Given the description of an element on the screen output the (x, y) to click on. 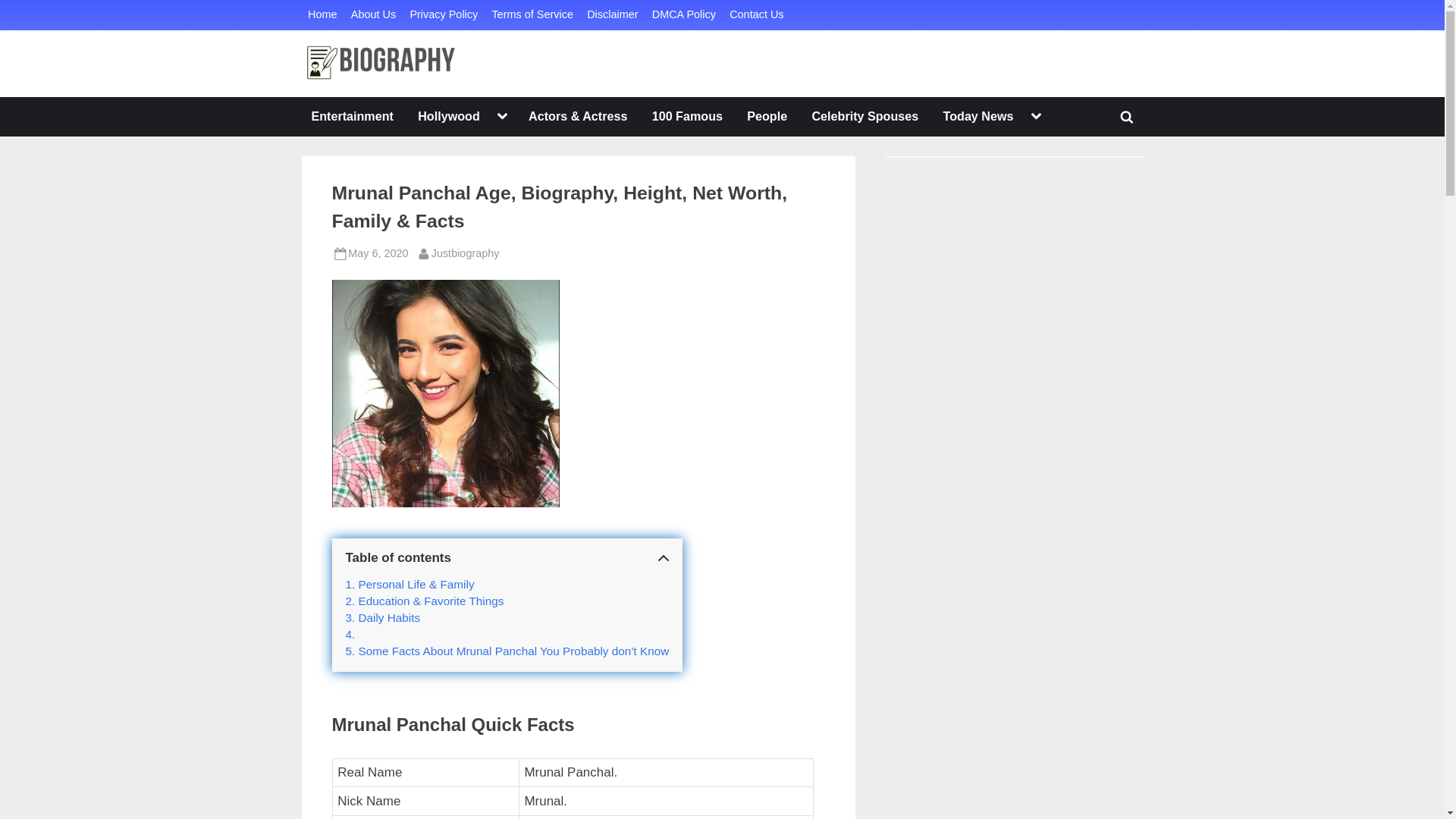
Toggle sub-menu (464, 253)
Celebrity Spouses (1035, 116)
People (865, 116)
DMCA Policy (766, 116)
About Us (684, 15)
Terms of Service (373, 15)
Toggle search form (532, 15)
Privacy Policy (1126, 116)
Entertainment (443, 15)
Disclaimer (352, 116)
Hollywood (611, 15)
Home (448, 116)
JustBiography (322, 15)
